Given the description of an element on the screen output the (x, y) to click on. 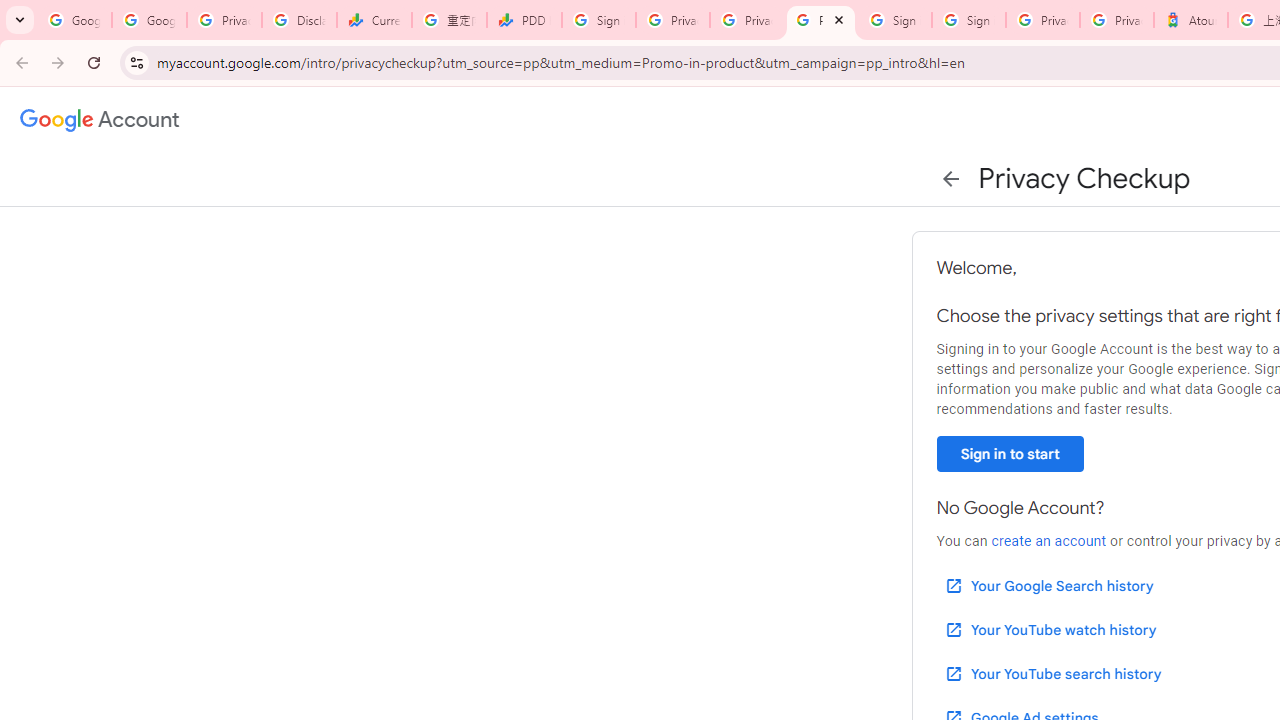
Atour Hotel - Google hotels (1190, 20)
Sign in to start (1009, 454)
Google Workspace Admin Community (74, 20)
Your YouTube search history (1052, 673)
PDD Holdings Inc - ADR (PDD) Price & News - Google Finance (523, 20)
Privacy Checkup (747, 20)
Sign in - Google Accounts (968, 20)
Your Google Search history (1048, 586)
